Given the description of an element on the screen output the (x, y) to click on. 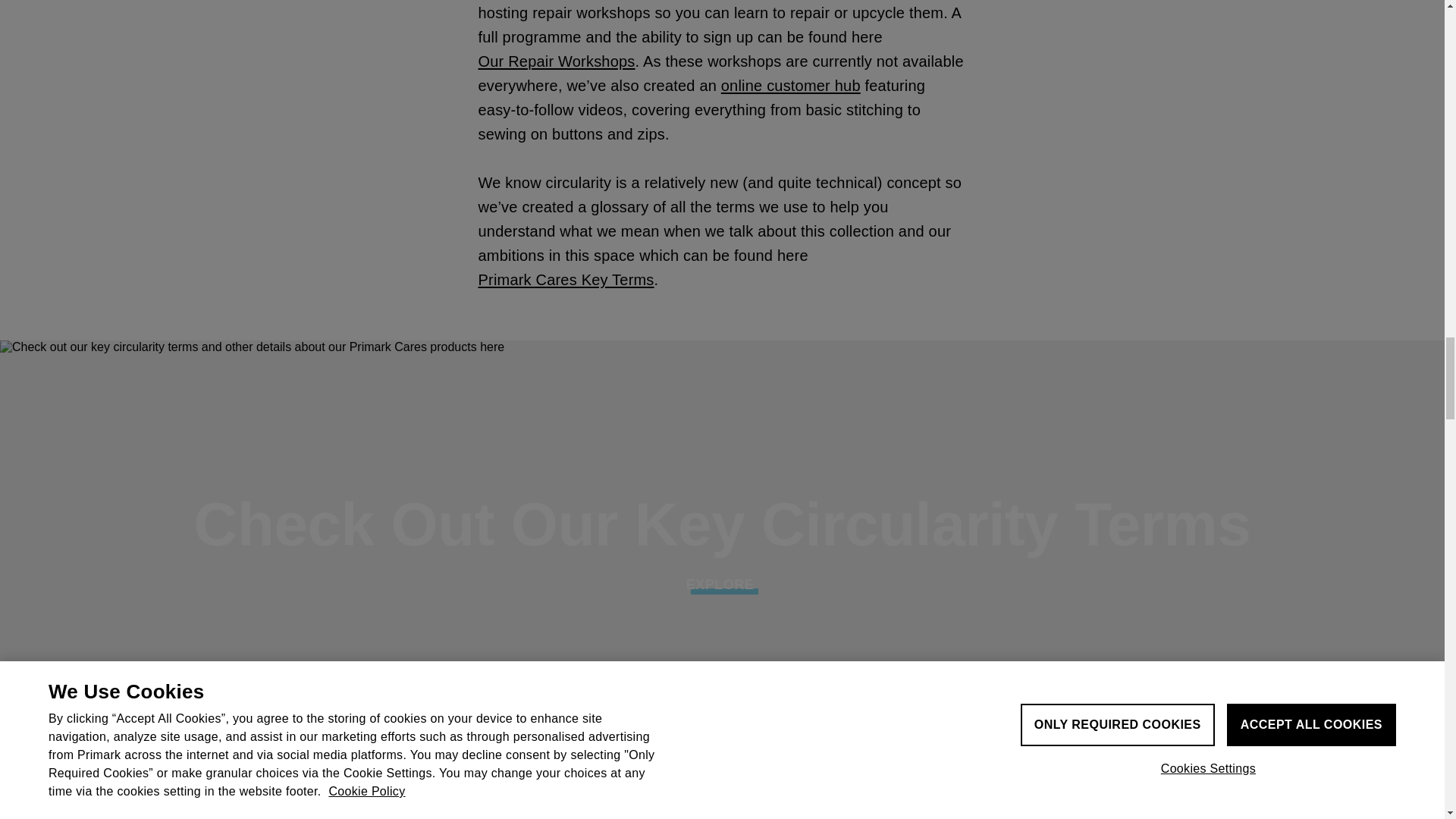
Our Repair Workshops (555, 61)
EXPLORE (721, 585)
online customer hub (790, 85)
Primark Cares Key Terms (565, 279)
